Given the description of an element on the screen output the (x, y) to click on. 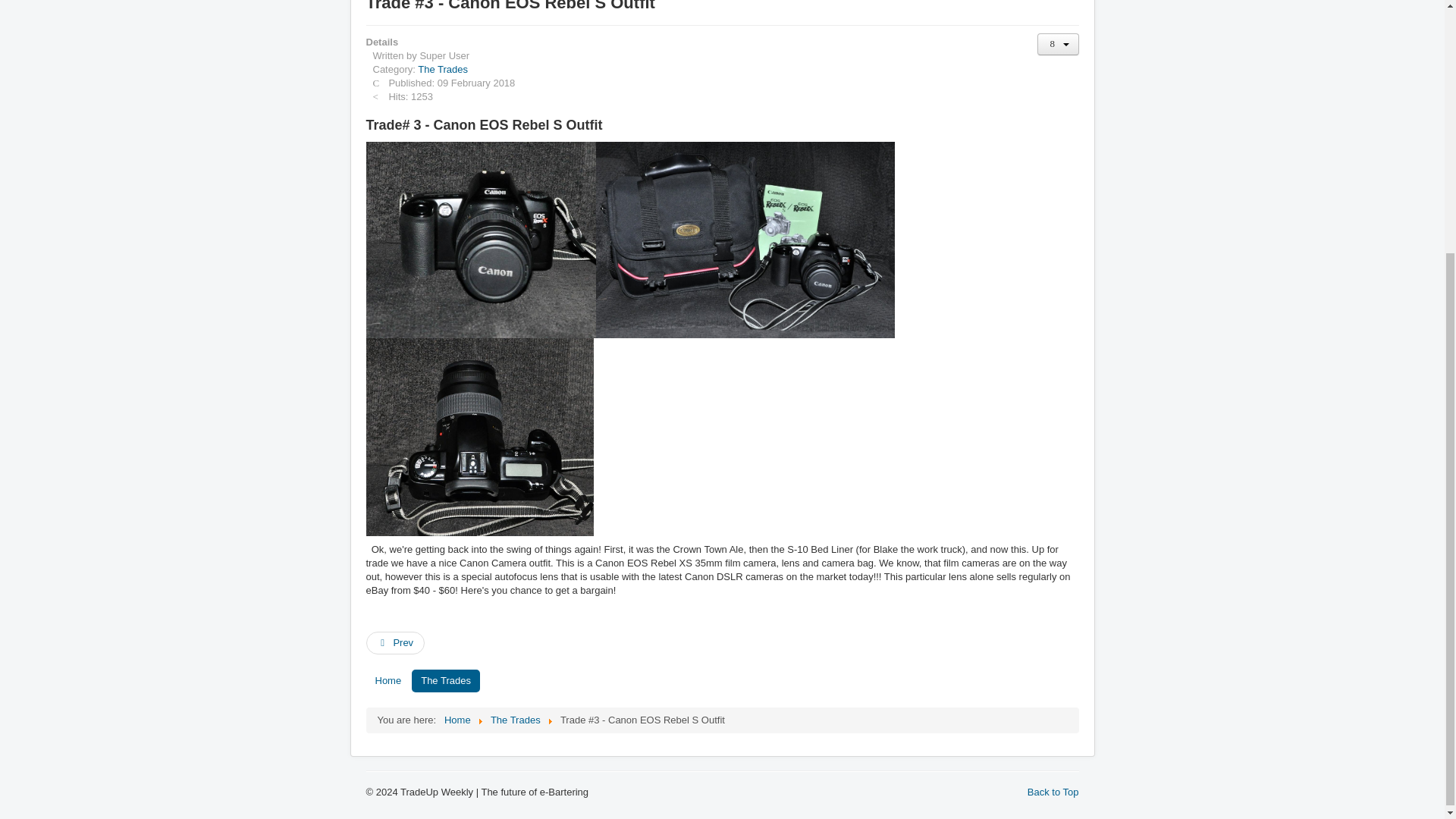
The Trades (442, 68)
Back to Top (1052, 791)
The Trades (446, 680)
Prev (395, 642)
The Trades (515, 719)
Home (457, 719)
Home (387, 680)
